Given the description of an element on the screen output the (x, y) to click on. 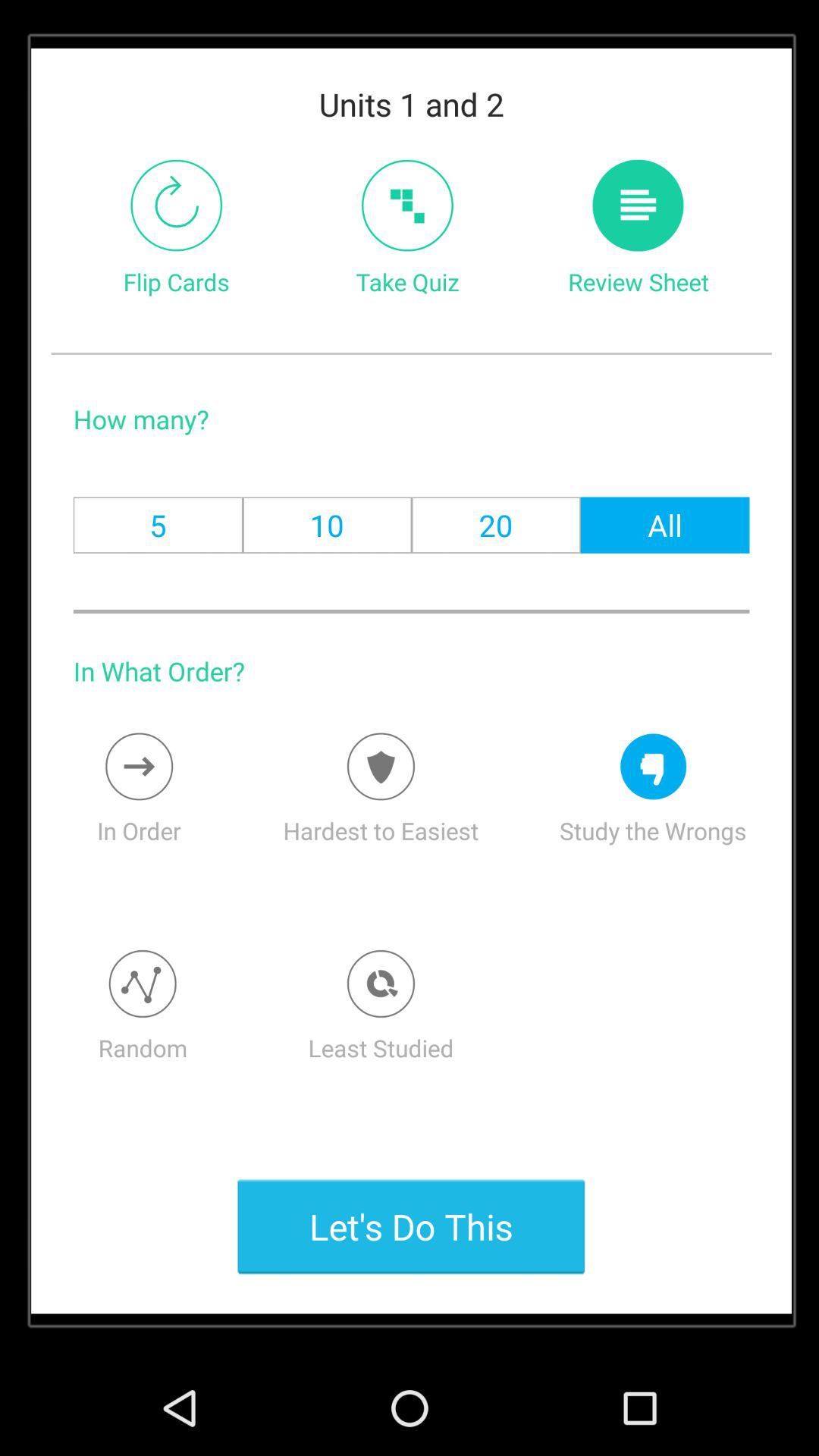
take the quiz (407, 205)
